Given the description of an element on the screen output the (x, y) to click on. 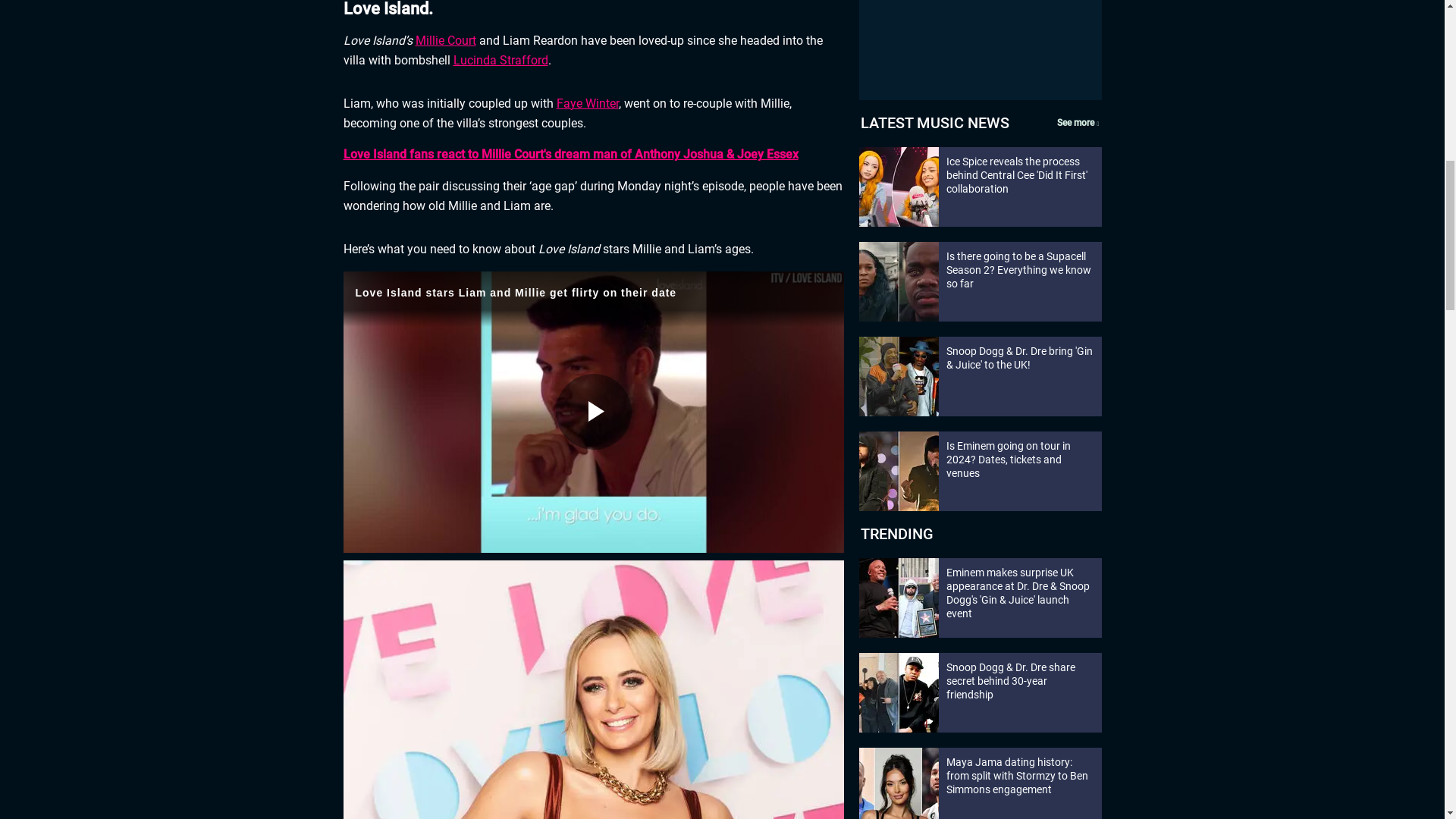
Lucinda Strafford (500, 60)
Millie Court (445, 40)
Faye Winter (587, 103)
